Given the description of an element on the screen output the (x, y) to click on. 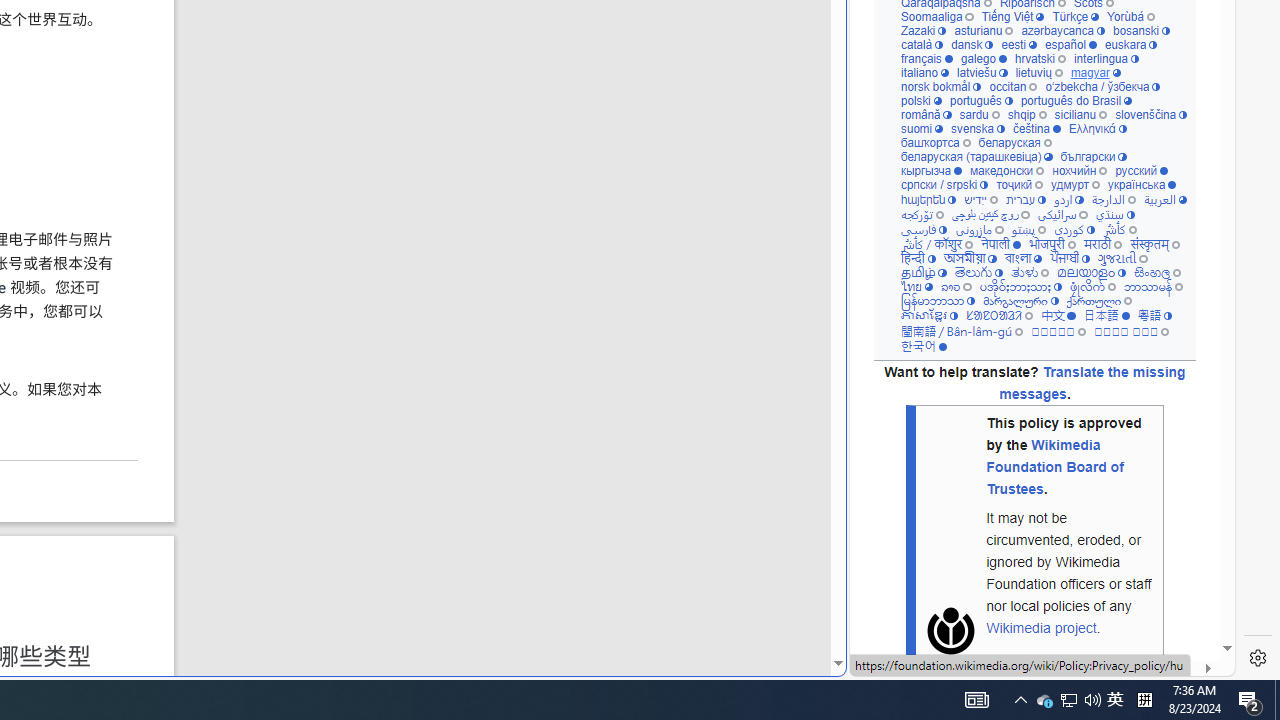
svenska (976, 128)
galego (983, 58)
